Given the description of an element on the screen output the (x, y) to click on. 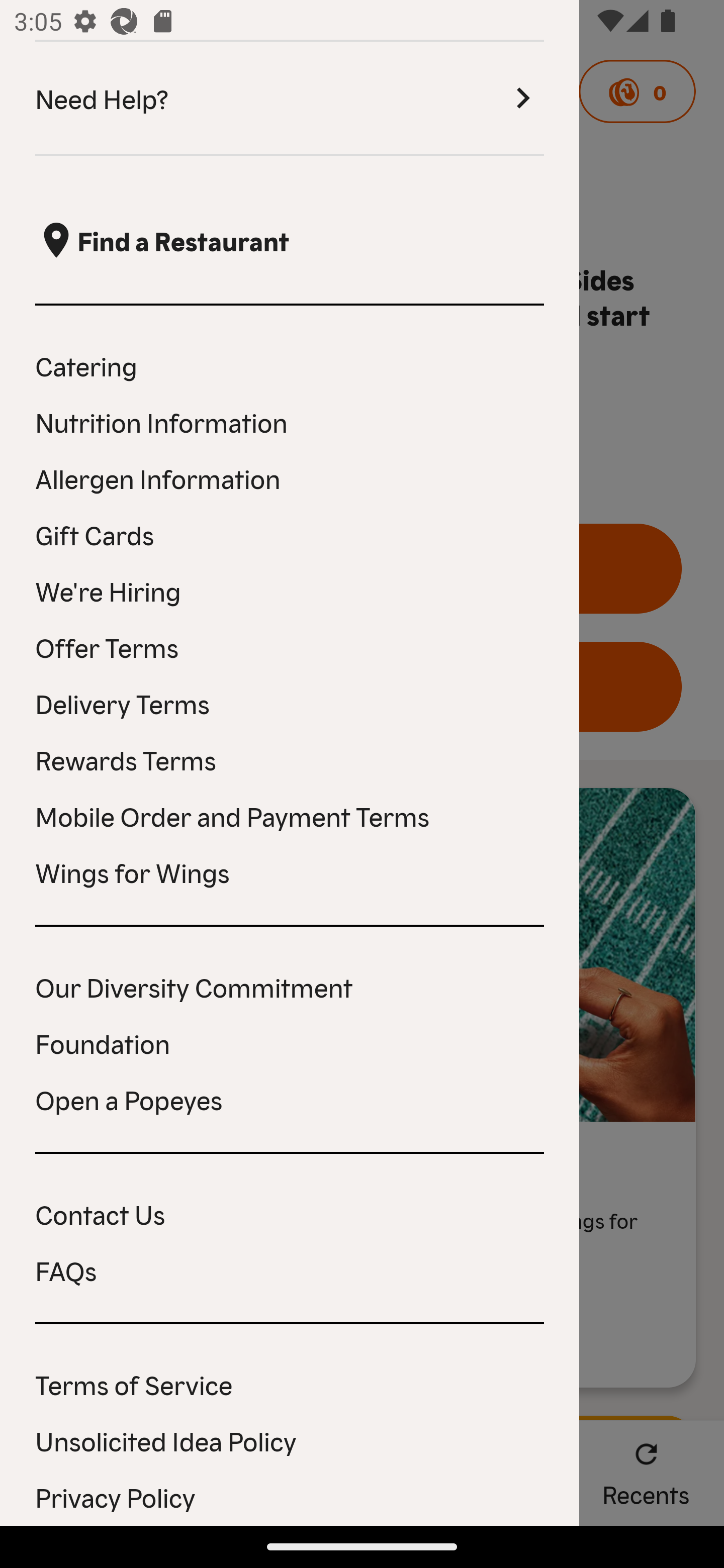
Need Help? Need Help?  (289, 98)
, Find a Restaurant  Find a Restaurant (289, 240)
Catering (289, 365)
Nutrition Information (289, 421)
Allergen Information (289, 477)
Gift Cards (289, 533)
We're Hiring (289, 590)
Offer Terms (289, 646)
Delivery Terms (289, 703)
Rewards Terms (289, 759)
Mobile Order and Payment Terms (289, 815)
Wings for Wings (289, 871)
Our Diversity Commitment (289, 986)
Foundation (289, 1042)
Open a Popeyes (289, 1098)
Contact Us (289, 1213)
FAQs (289, 1269)
Terms of Service (289, 1383)
Unsolicited Idea Policy (289, 1440)
Privacy Policy (289, 1496)
